Given the description of an element on the screen output the (x, y) to click on. 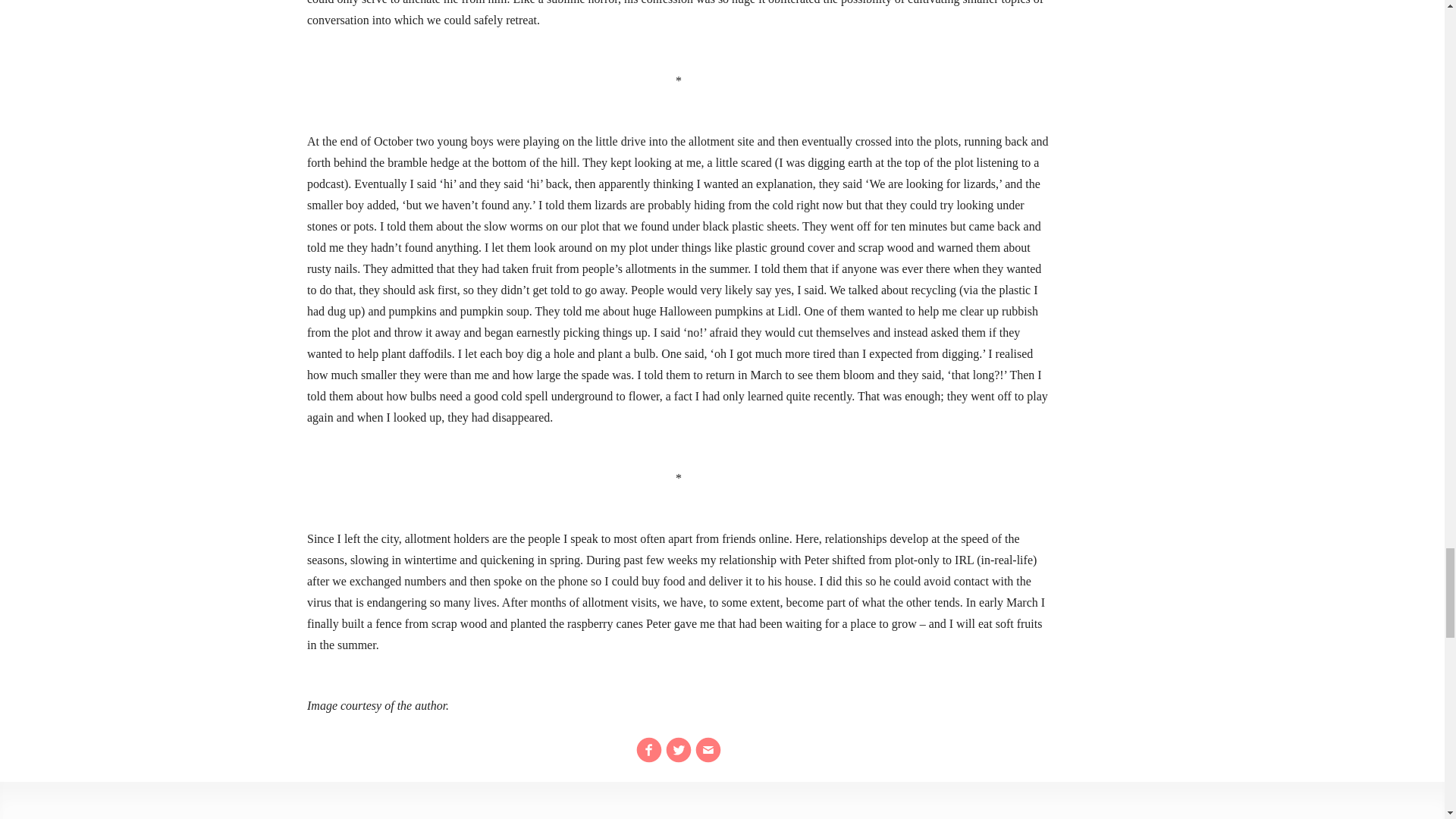
mail-with-circle Created with Sketch. (707, 749)
twitter-with-circle Created with Sketch. (678, 749)
facebook-with-circle Created with Sketch. (649, 749)
